Given the description of an element on the screen output the (x, y) to click on. 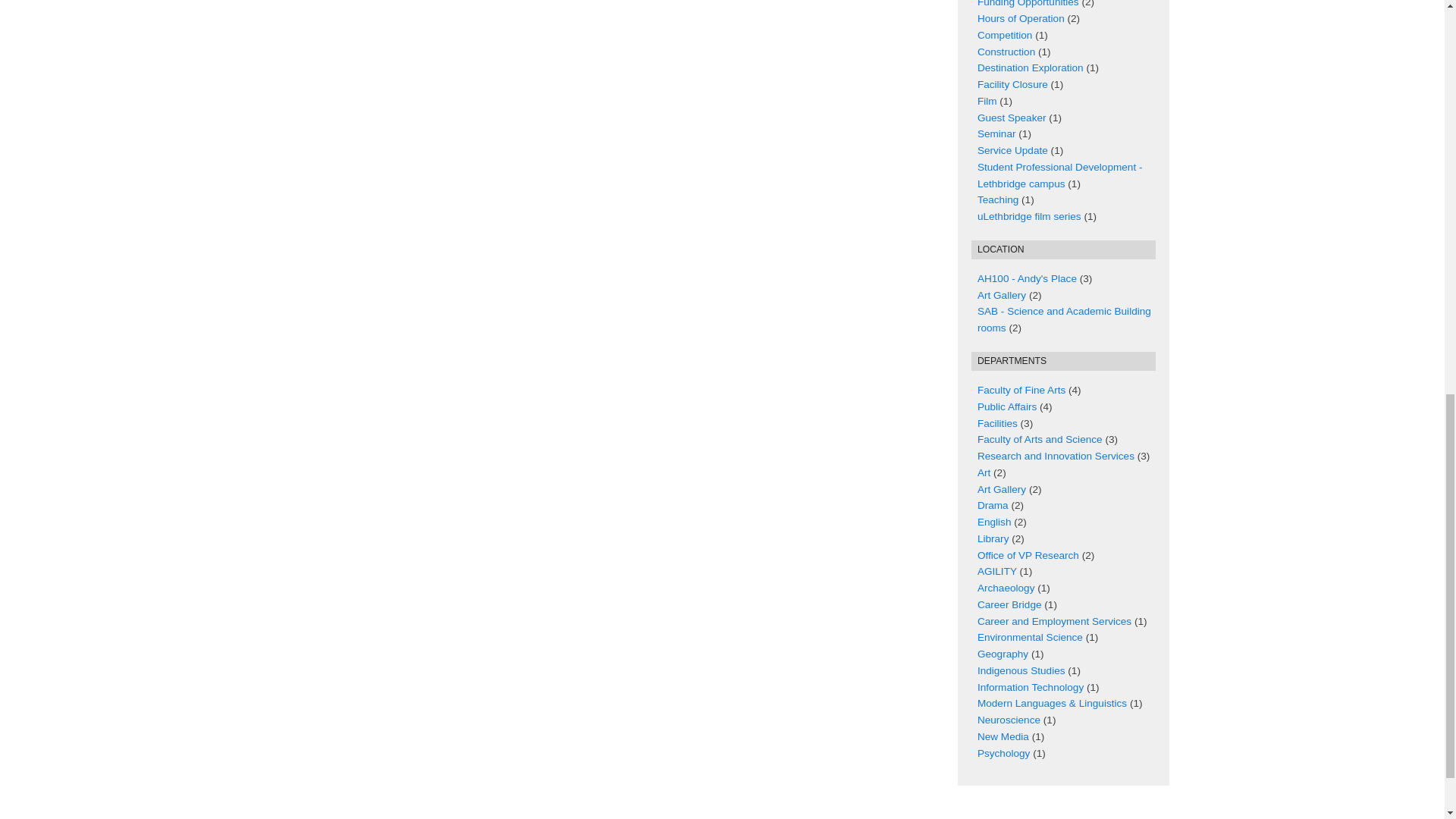
Seminar (996, 133)
Service Update (1012, 150)
Facility Closure (1012, 84)
Construction (1005, 51)
Teaching (996, 199)
Hours of Operation (1020, 18)
Film (986, 101)
Guest Speaker (1011, 117)
Destination Exploration (1029, 67)
Funding Opportunities (1027, 3)
Student Professional Development - Lethbridge campus (1059, 175)
Competition (1004, 34)
